Given the description of an element on the screen output the (x, y) to click on. 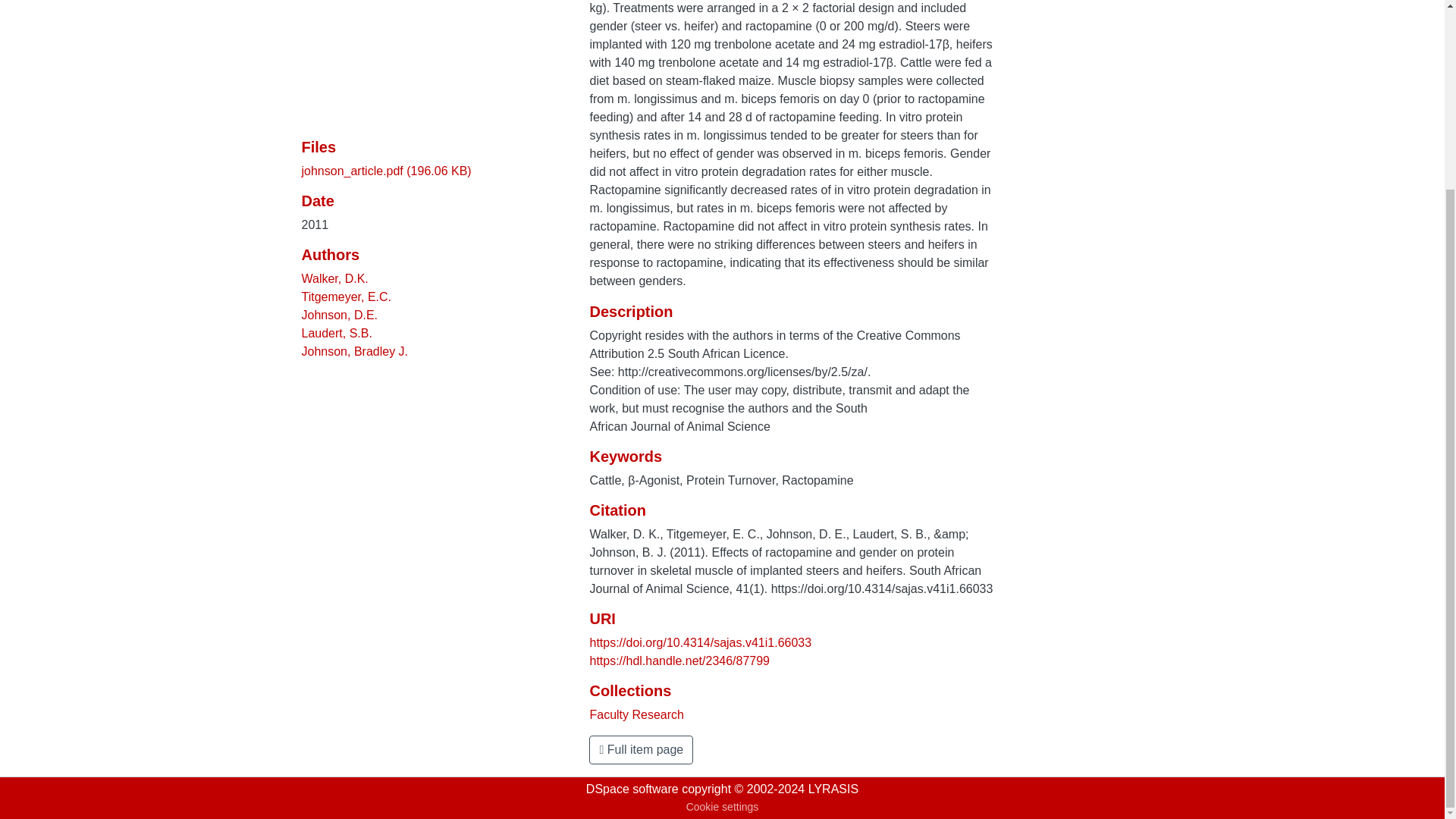
Faculty Research (636, 714)
Walker, D.K. (334, 278)
Cookie settings (722, 806)
DSpace software (632, 788)
Titgemeyer, E.C. (346, 296)
Laudert, S.B. (336, 332)
Full item page (641, 749)
Johnson, D.E. (339, 314)
LYRASIS (833, 788)
Johnson, Bradley J. (355, 350)
